Given the description of an element on the screen output the (x, y) to click on. 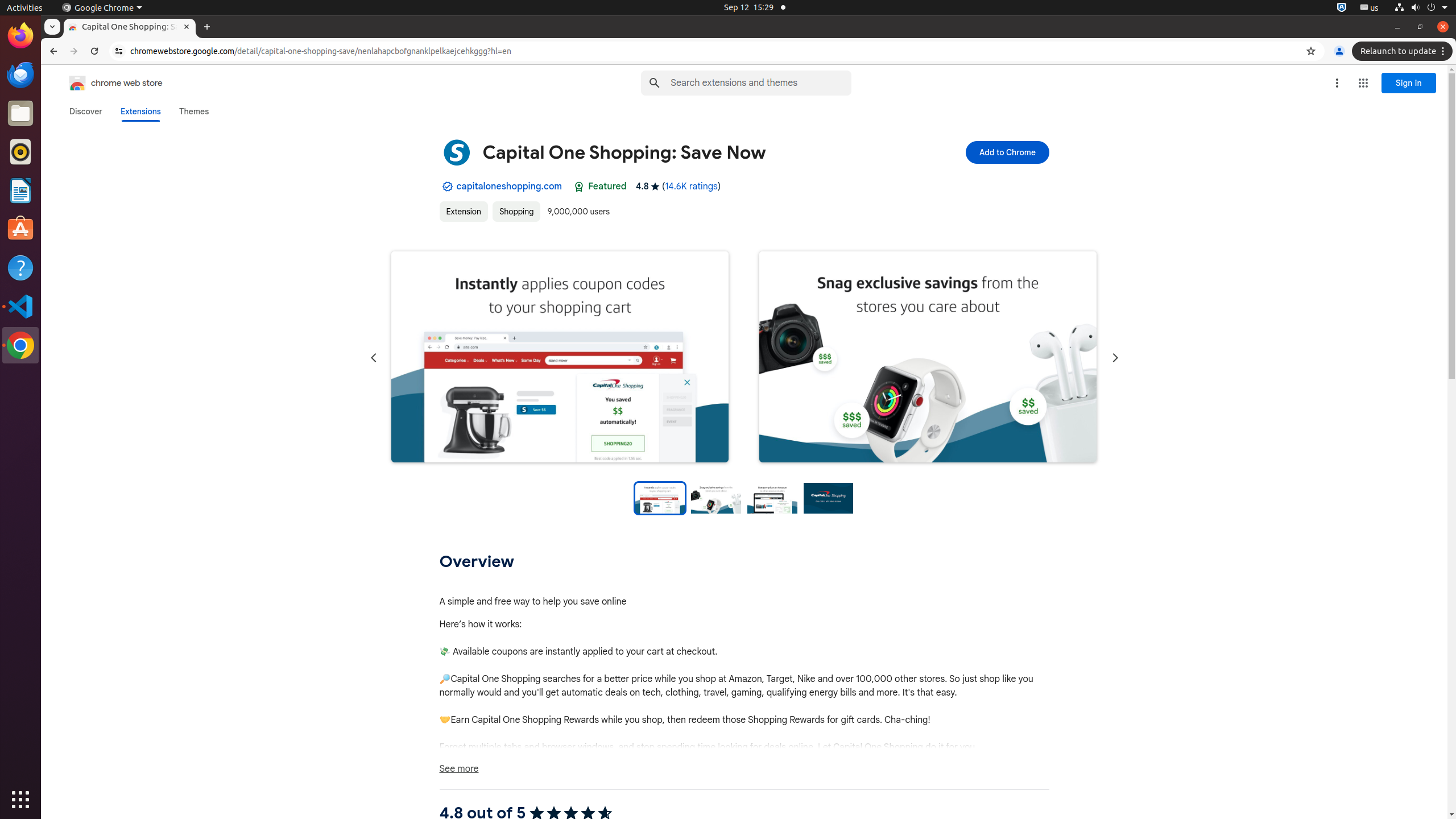
By Established Publisher Badge Element type: push-button (447, 186)
Rhythmbox Element type: push-button (20, 151)
Shopping Element type: link (515, 211)
You Element type: push-button (1339, 50)
Featured Badge Element type: push-button (579, 186)
